Given the description of an element on the screen output the (x, y) to click on. 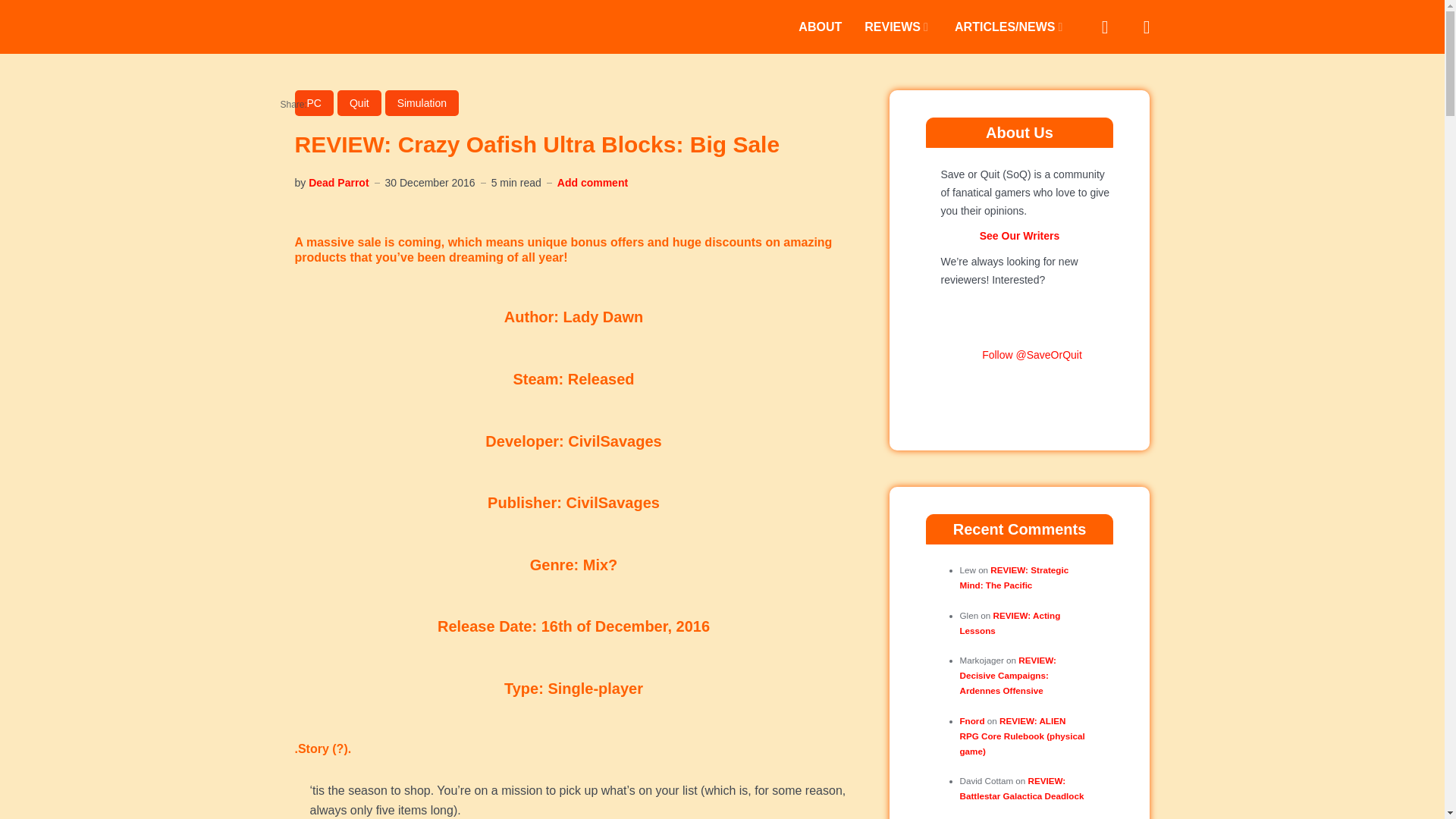
ABOUT (819, 26)
REVIEWS (897, 26)
Add comment (592, 182)
Join SoQ Steam Group (968, 354)
Join SoQ Discord (1019, 388)
